Given the description of an element on the screen output the (x, y) to click on. 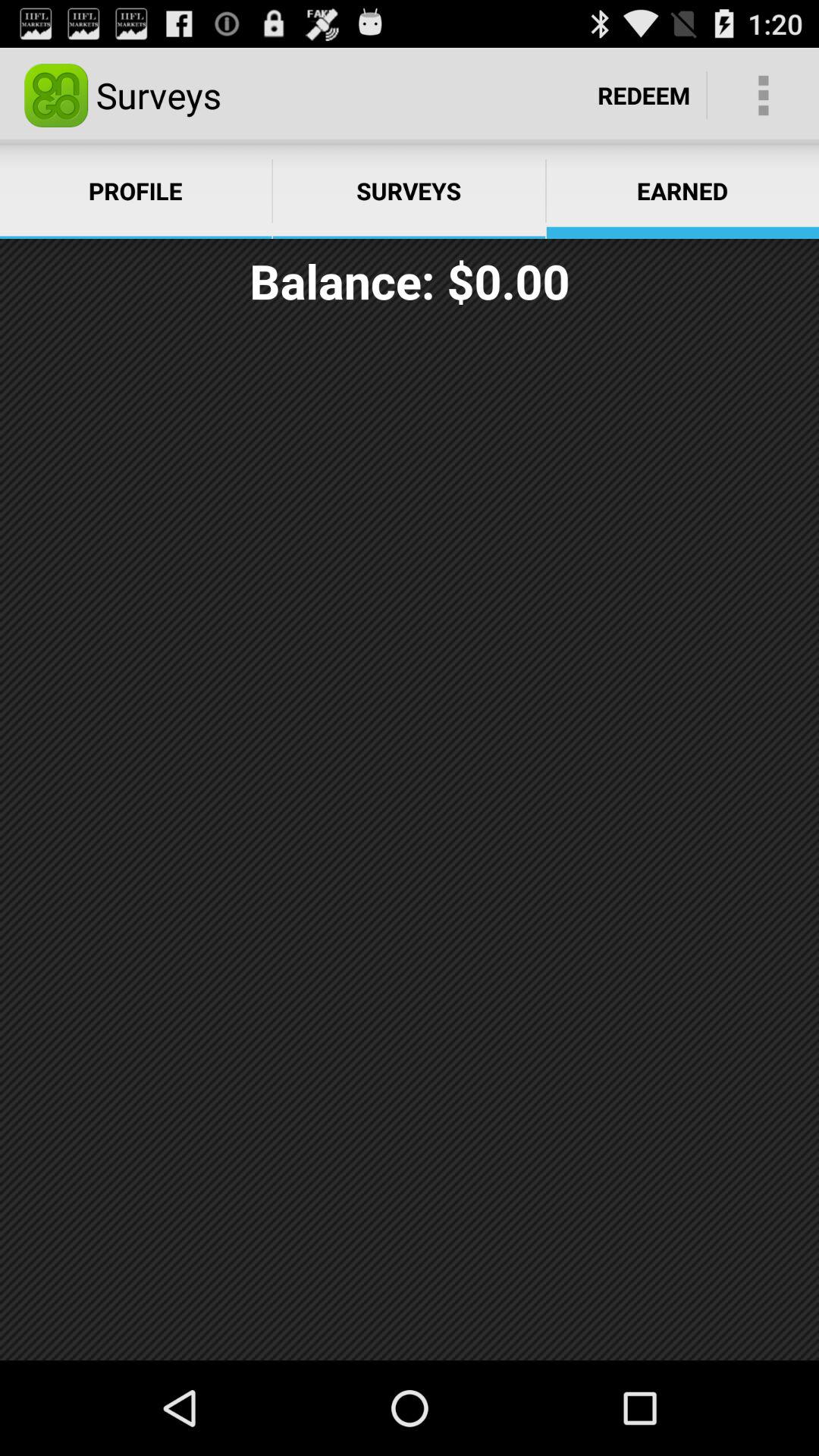
turn off the item to the right of the redeem (763, 95)
